Given the description of an element on the screen output the (x, y) to click on. 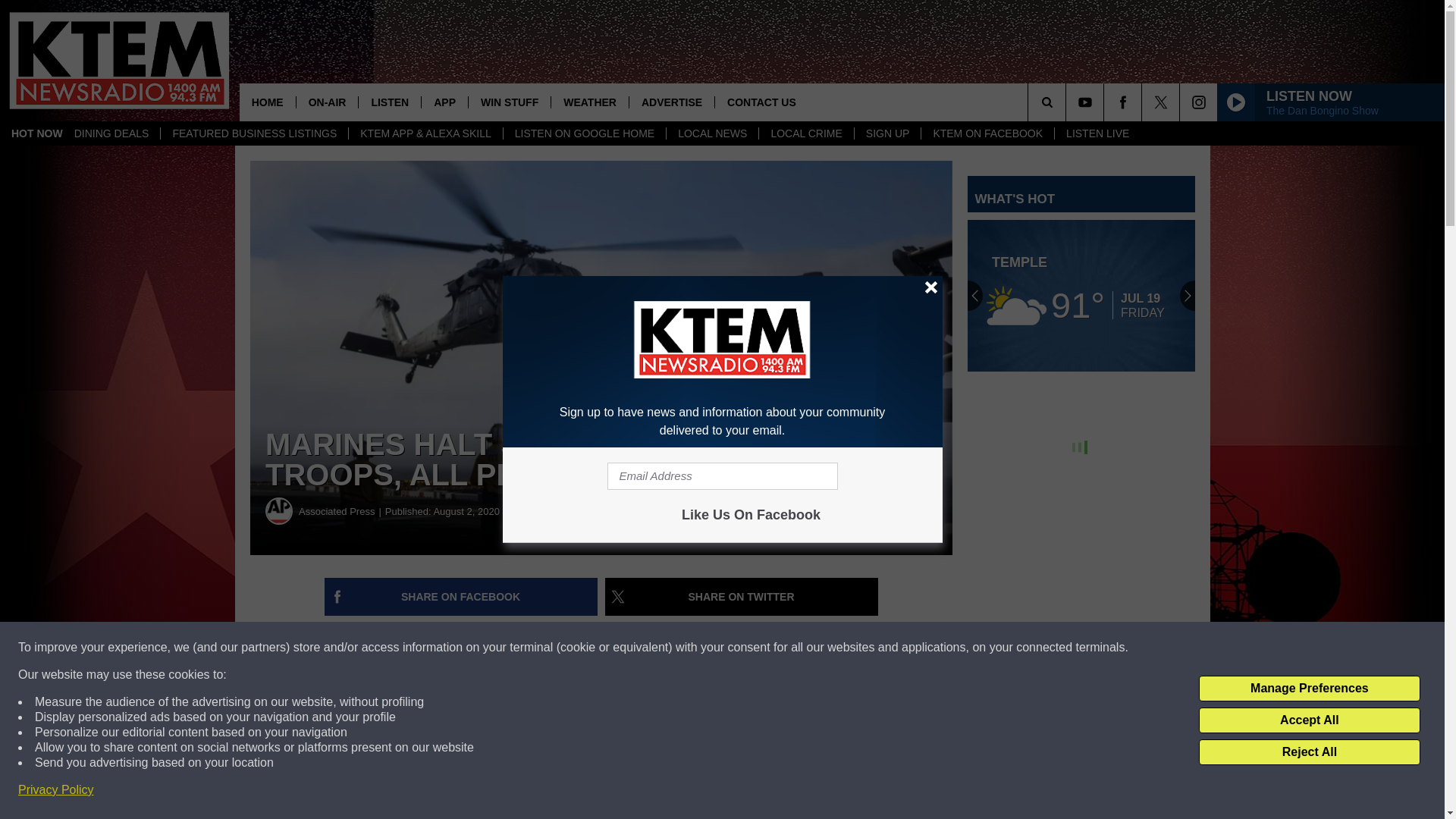
FEATURED BUSINESS LISTINGS (253, 133)
LOCAL CRIME (805, 133)
Share on Twitter (741, 596)
ON-AIR (326, 102)
Share on Facebook (460, 596)
Manage Preferences (1309, 688)
Temple Weather (1081, 295)
Reject All (1309, 751)
HOME (267, 102)
WEATHER (589, 102)
KTEM ON FACEBOOK (987, 133)
Accept All (1309, 720)
CONTACT US (761, 102)
SEARCH (1068, 102)
SEARCH (1068, 102)
